Given the description of an element on the screen output the (x, y) to click on. 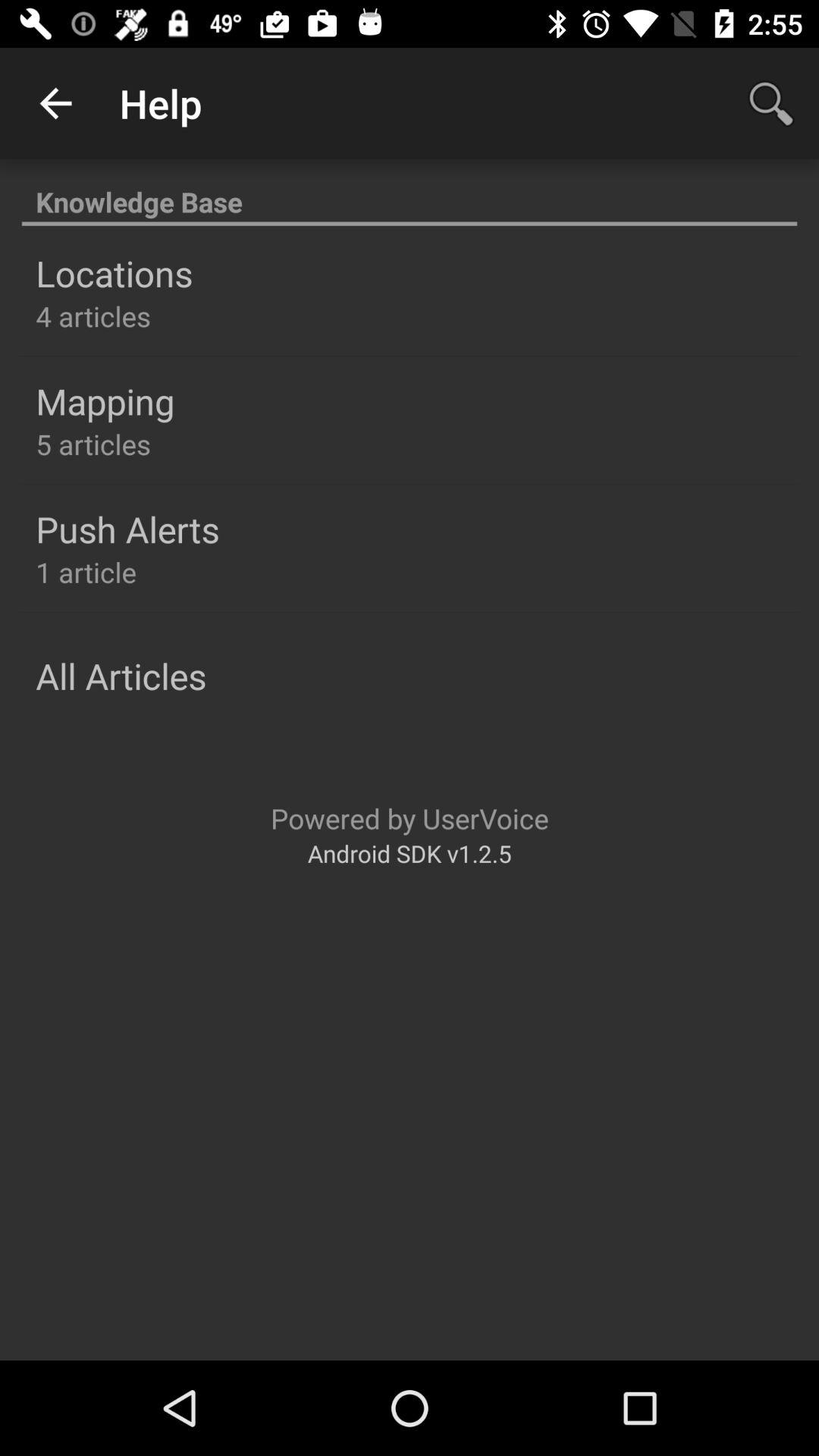
select the item next to help icon (55, 103)
